Given the description of an element on the screen output the (x, y) to click on. 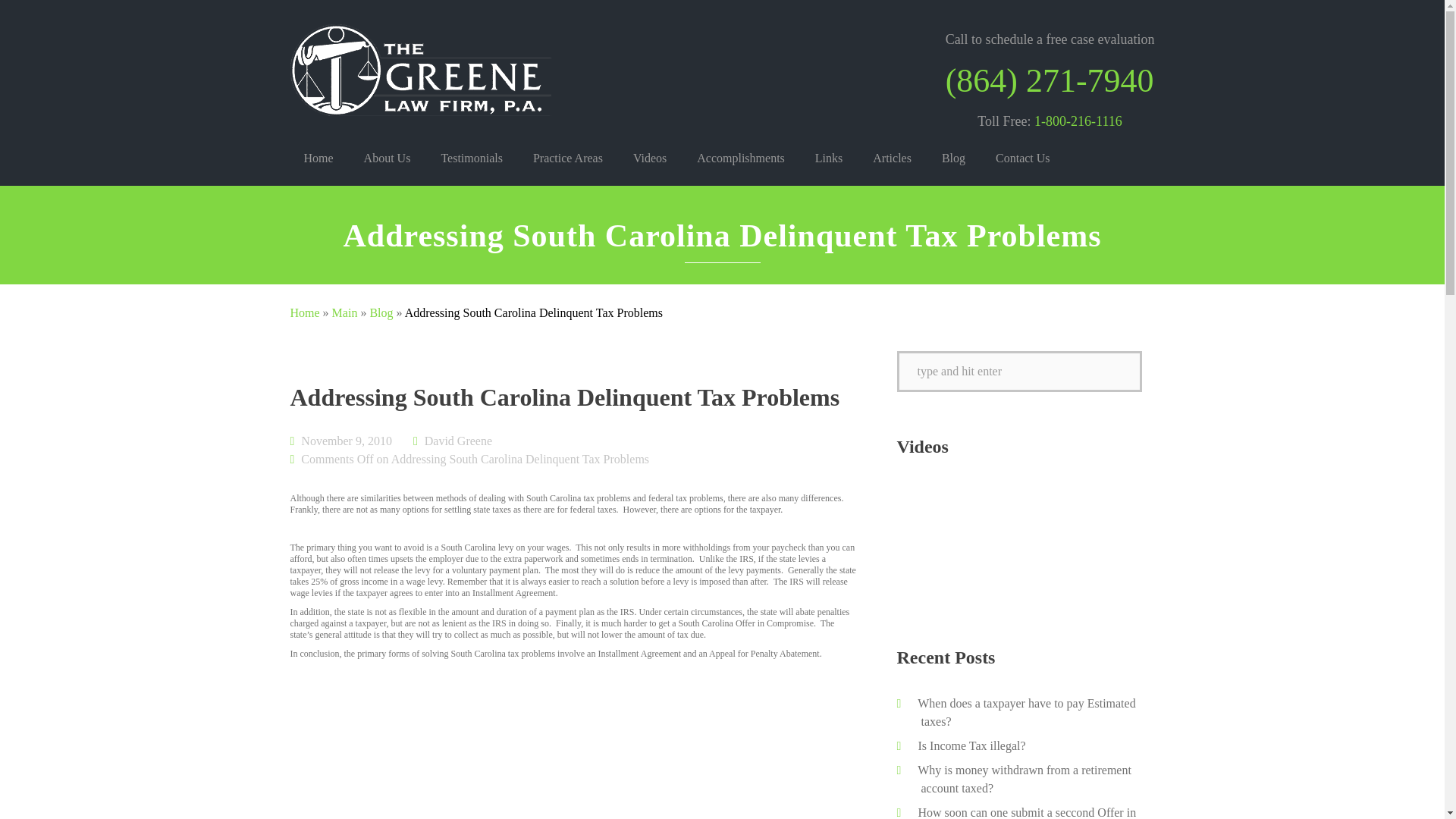
Links (829, 158)
Testimonials (471, 158)
Home (317, 158)
About Us (387, 158)
Articles (891, 158)
1-800-216-1116 (1077, 120)
Blog (953, 158)
Accomplishments (739, 158)
Videos (649, 158)
Contact Us (1022, 158)
Practice Areas (567, 158)
